Given the description of an element on the screen output the (x, y) to click on. 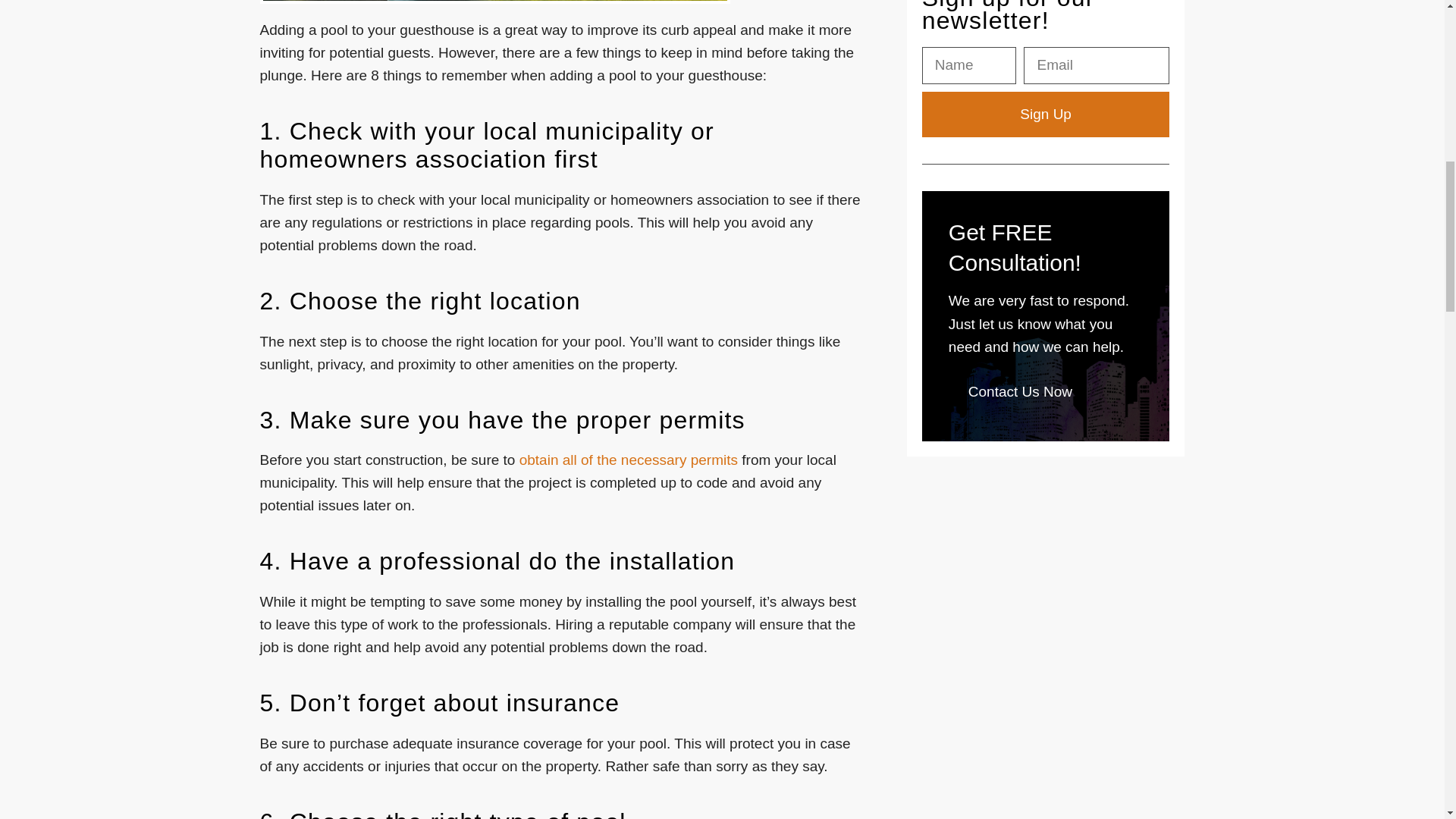
Sign Up (1045, 114)
Contact Us Now (1020, 392)
obtain all of the necessary permits (628, 459)
